Given the description of an element on the screen output the (x, y) to click on. 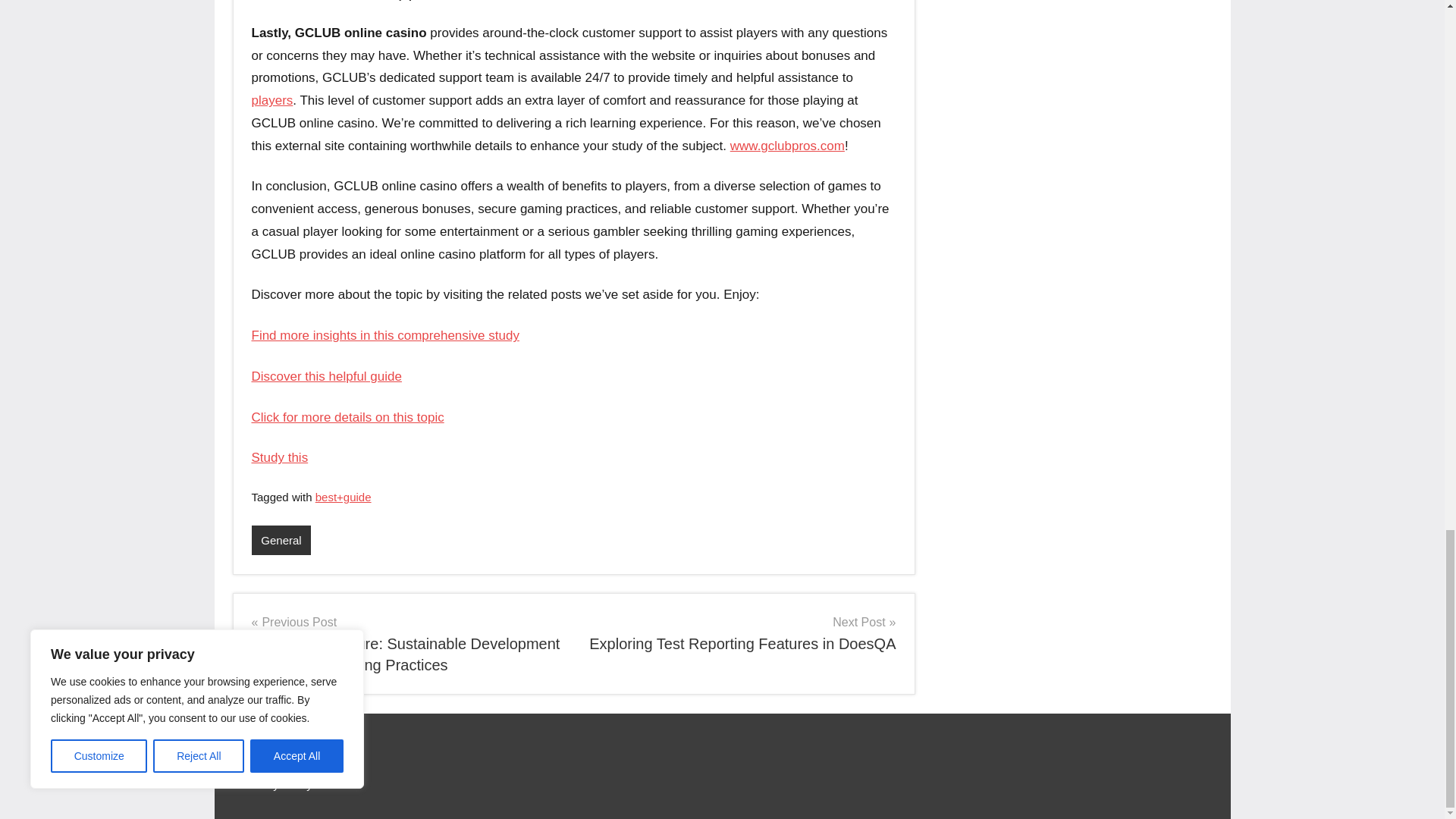
General (281, 540)
www.gclubpros.com (787, 145)
players (272, 100)
Click for more details on this topic (347, 417)
Find more insights in this comprehensive study (385, 335)
Discover this helpful guide (326, 376)
Study this (279, 457)
